Given the description of an element on the screen output the (x, y) to click on. 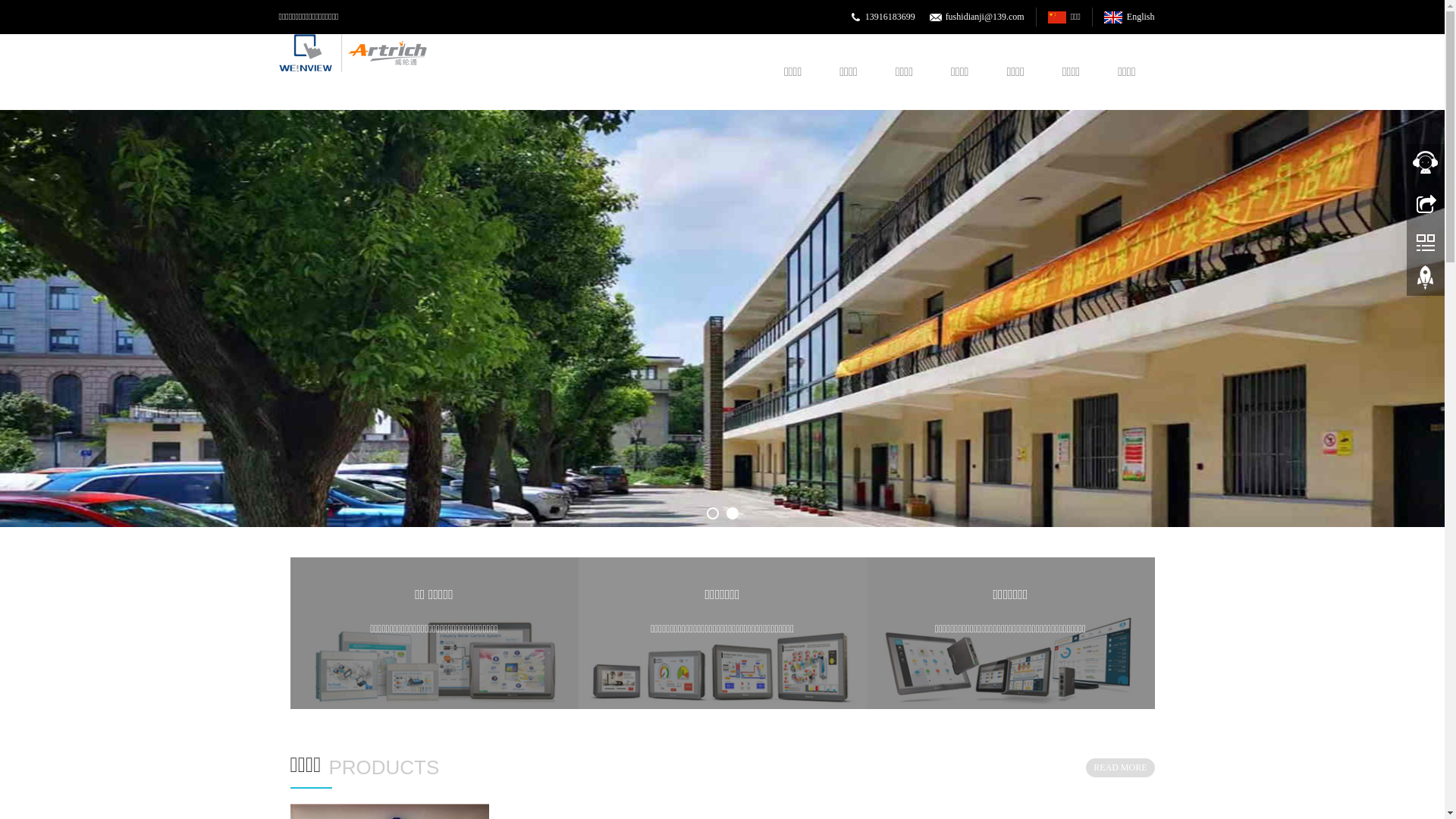
READ MORE Element type: text (1119, 767)
English Element type: text (1129, 16)
13916183699 Element type: text (890, 16)
1 Element type: hover (722, 318)
fushidianji@139.com Element type: text (984, 16)
